Given the description of an element on the screen output the (x, y) to click on. 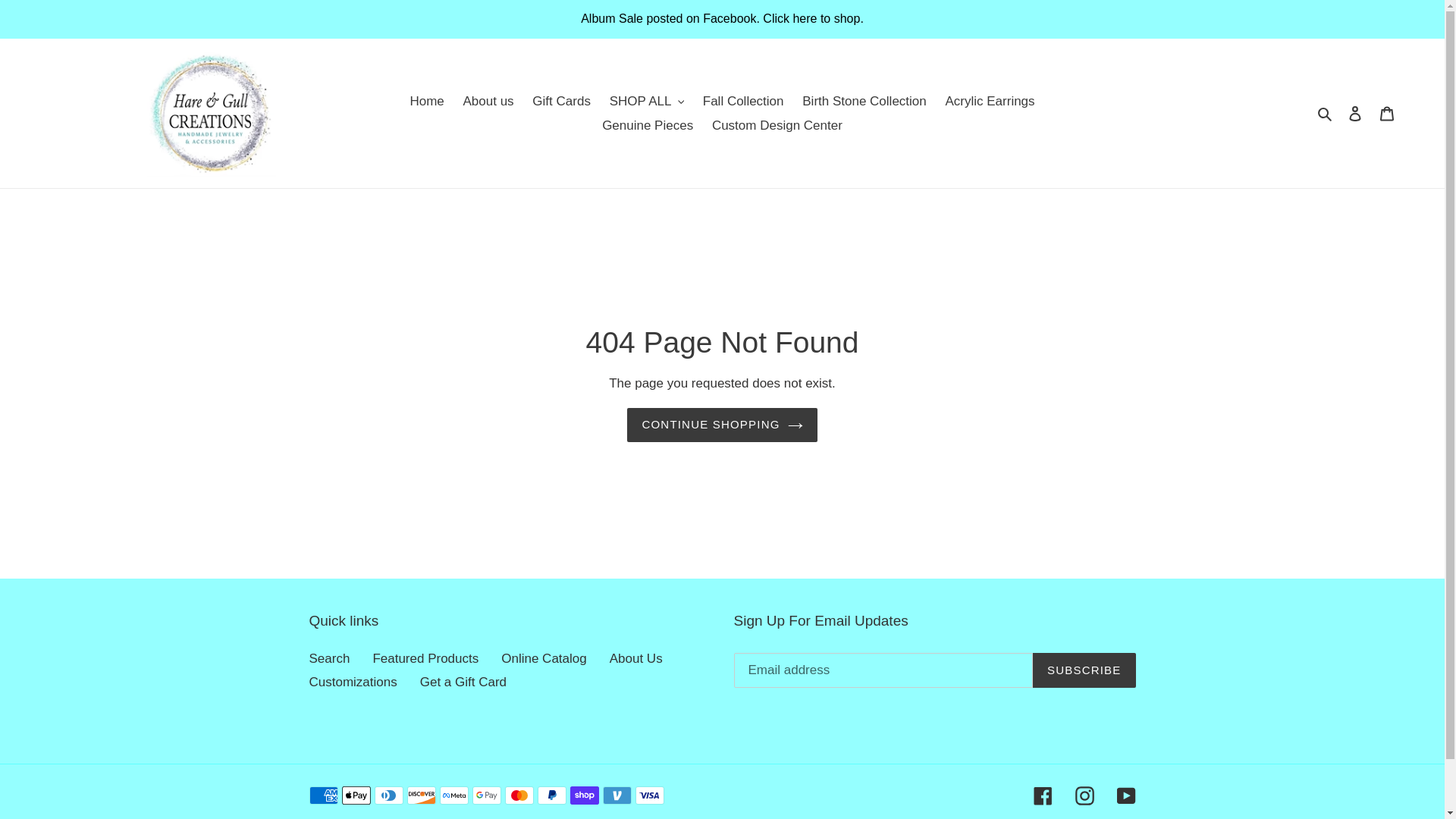
About us (488, 101)
Log in (1355, 113)
Search (1326, 113)
Cart (1387, 113)
Birth Stone Collection (863, 101)
Gift Cards (561, 101)
Genuine Pieces (647, 125)
Acrylic Earrings (989, 101)
Home (426, 101)
Fall Collection (743, 101)
SHOP ALL (646, 101)
Custom Design Center (777, 125)
Album Sale posted on Facebook. Click here to shop. (721, 18)
